Given the description of an element on the screen output the (x, y) to click on. 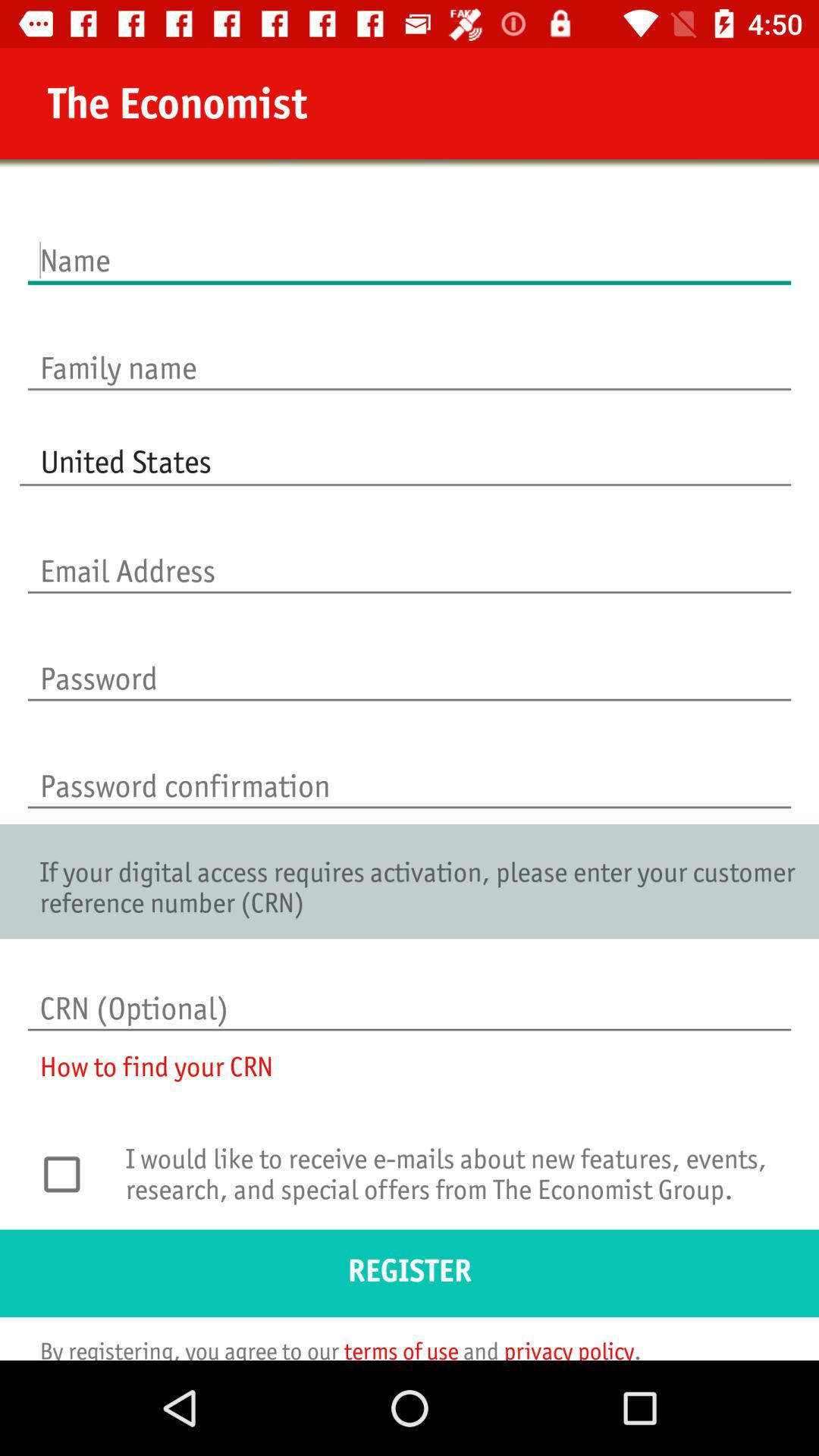
confirm password (409, 770)
